Given the description of an element on the screen output the (x, y) to click on. 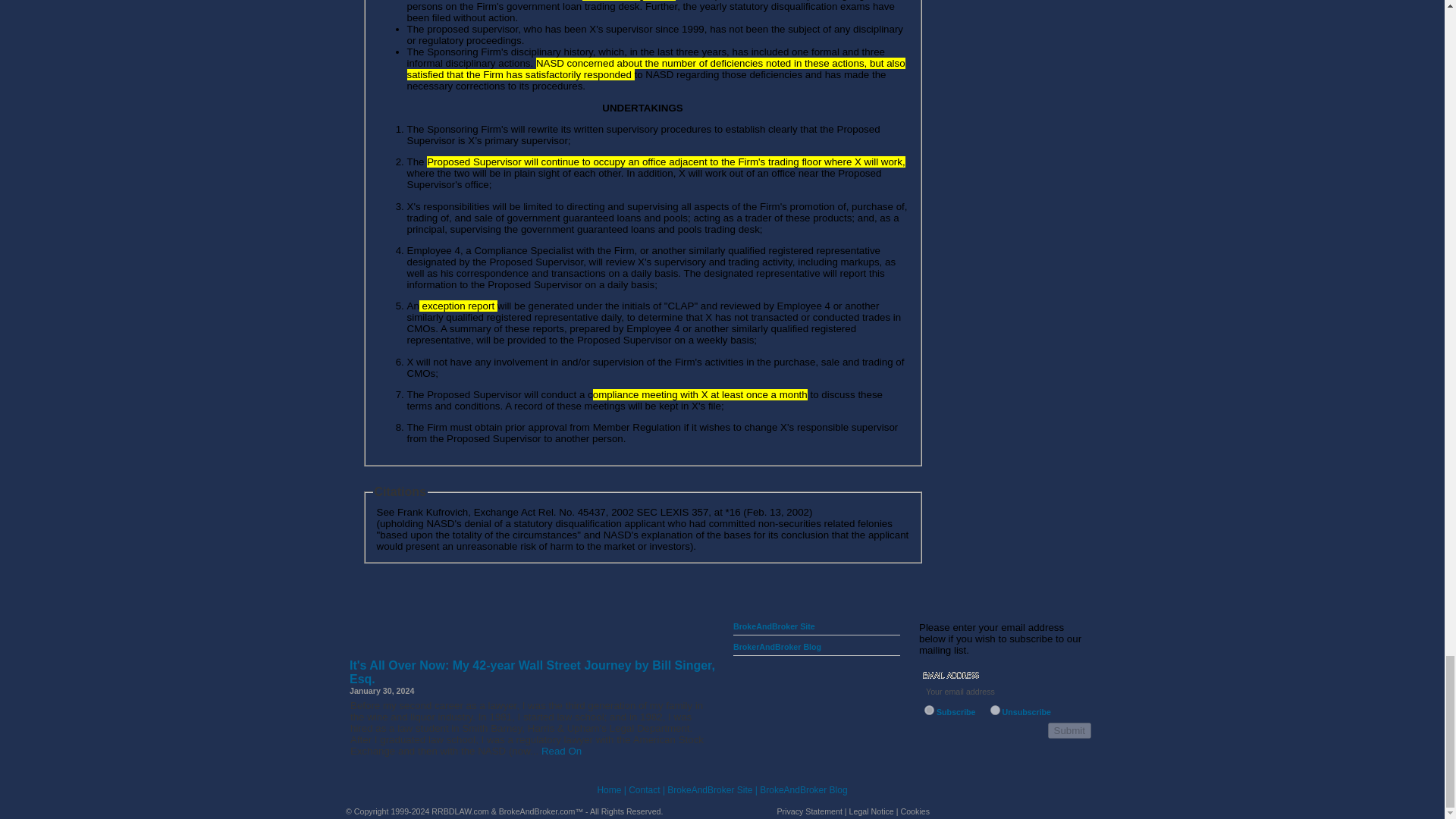
BrokeAndBroker Wall Street Blog (538, 655)
Submit (1069, 730)
sub (929, 709)
Your email address (1003, 691)
unsub (995, 709)
